Given the description of an element on the screen output the (x, y) to click on. 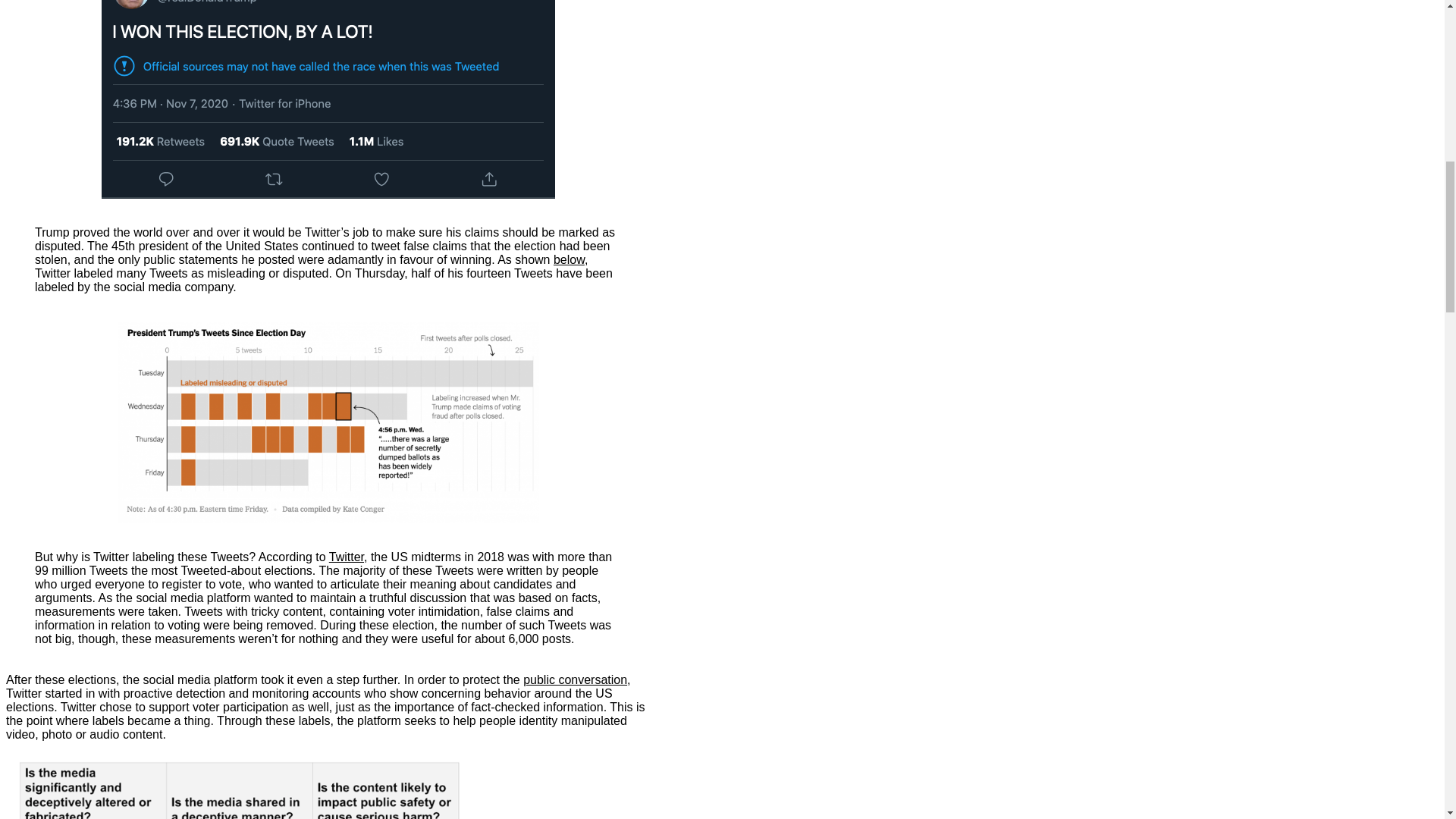
below (569, 259)
public conversation (574, 679)
Twitter (346, 556)
